Given the description of an element on the screen output the (x, y) to click on. 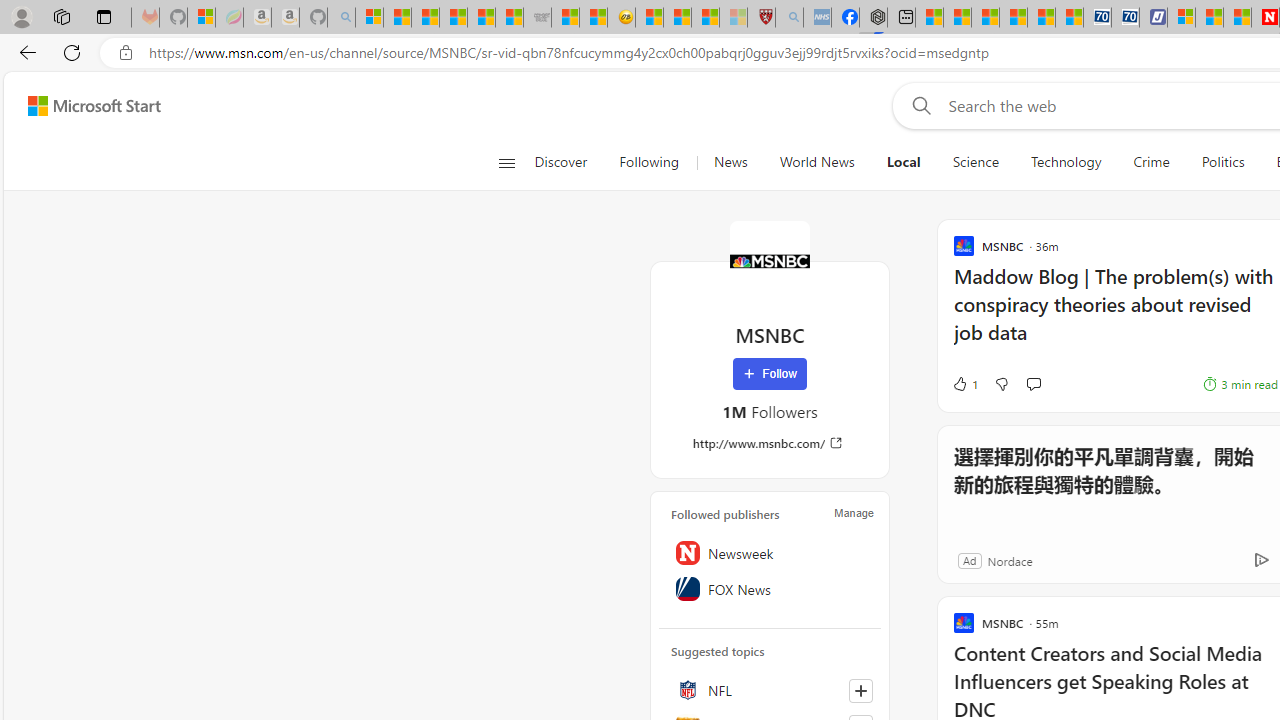
Web search (917, 105)
http://www.msnbc.com/ (769, 443)
Cheap Hotels - Save70.com (1125, 17)
World News (816, 162)
Manage (854, 512)
1 Like (964, 384)
Science (975, 162)
New Report Confirms 2023 Was Record Hot | Watch (481, 17)
